Given the description of an element on the screen output the (x, y) to click on. 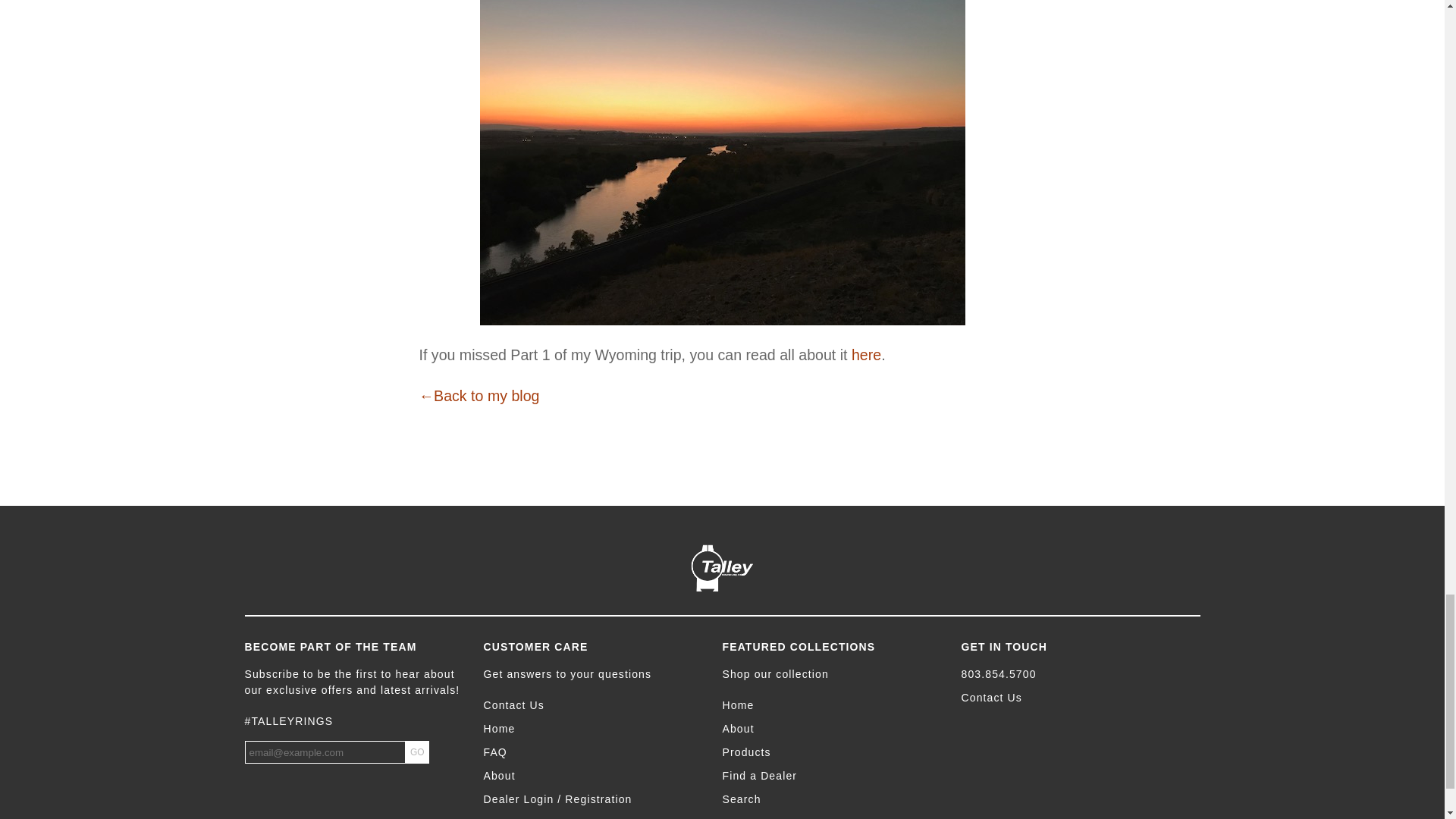
Back to my blog (478, 395)
GO (417, 752)
803.854.5700 (1072, 674)
Contact Us (595, 705)
Home (833, 705)
Find a Dealer (833, 775)
Talley Manufacturing (722, 567)
Search (833, 799)
Home (595, 729)
About (595, 775)
FAQ (595, 752)
Products (833, 752)
here (865, 354)
About (833, 729)
